Given the description of an element on the screen output the (x, y) to click on. 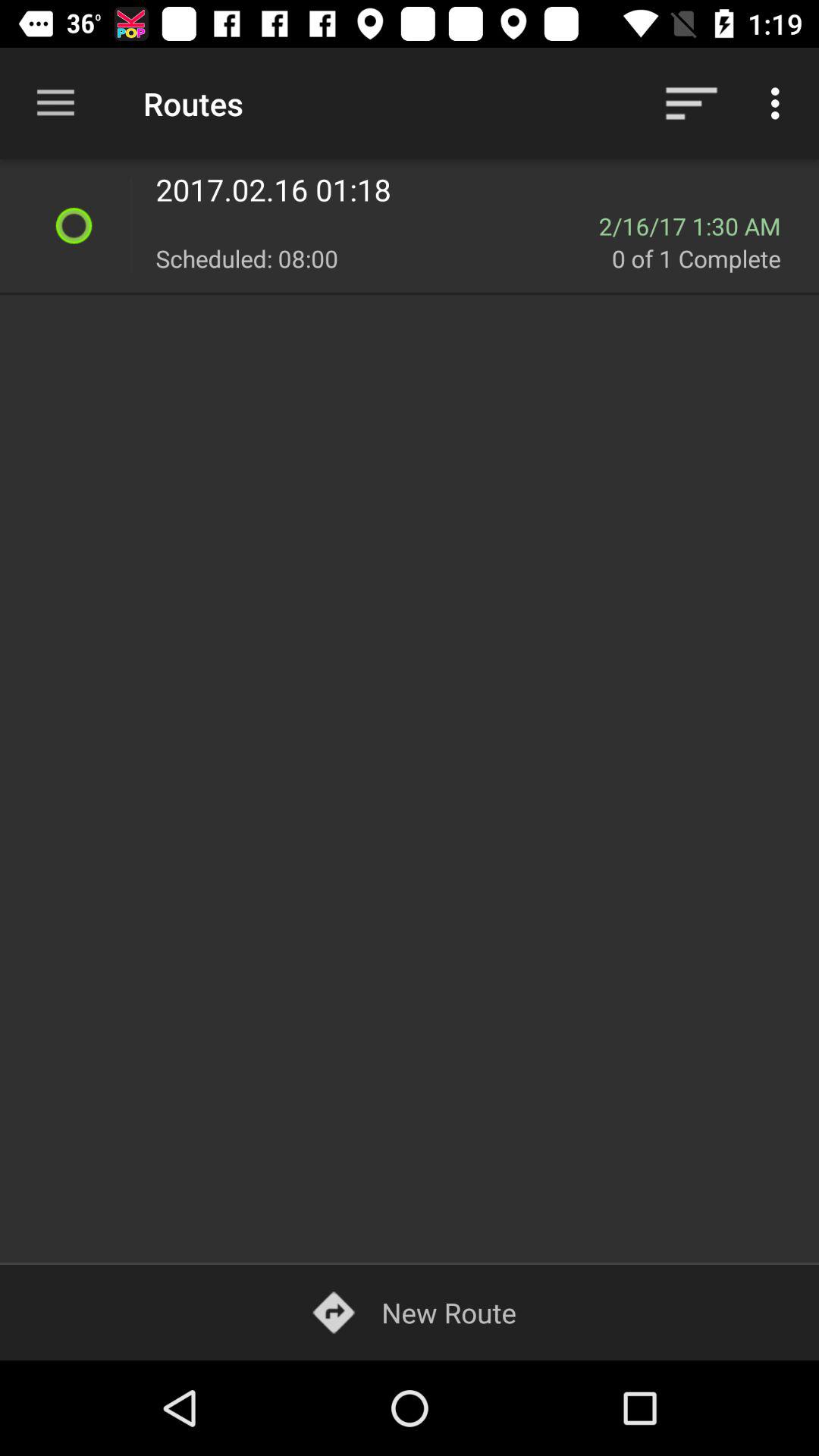
turn on the item below the 2017 02 16 item (699, 225)
